Given the description of an element on the screen output the (x, y) to click on. 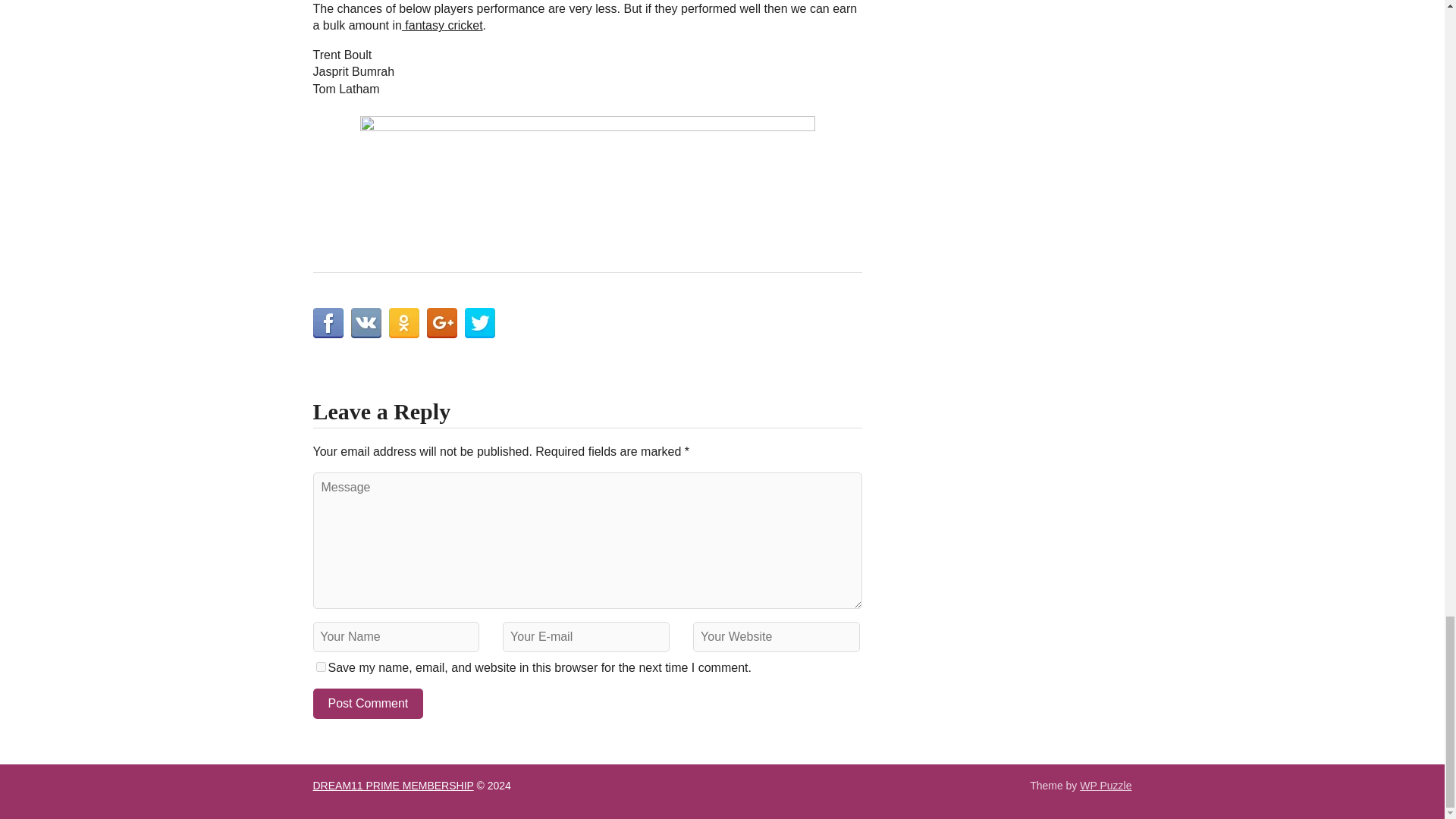
Share in VK (365, 322)
yes (319, 666)
Share in OK (403, 322)
Post Comment (368, 703)
 fantasy cricket (442, 24)
Share in Twitter (479, 322)
Share in Facebook (327, 322)
